Given the description of an element on the screen output the (x, y) to click on. 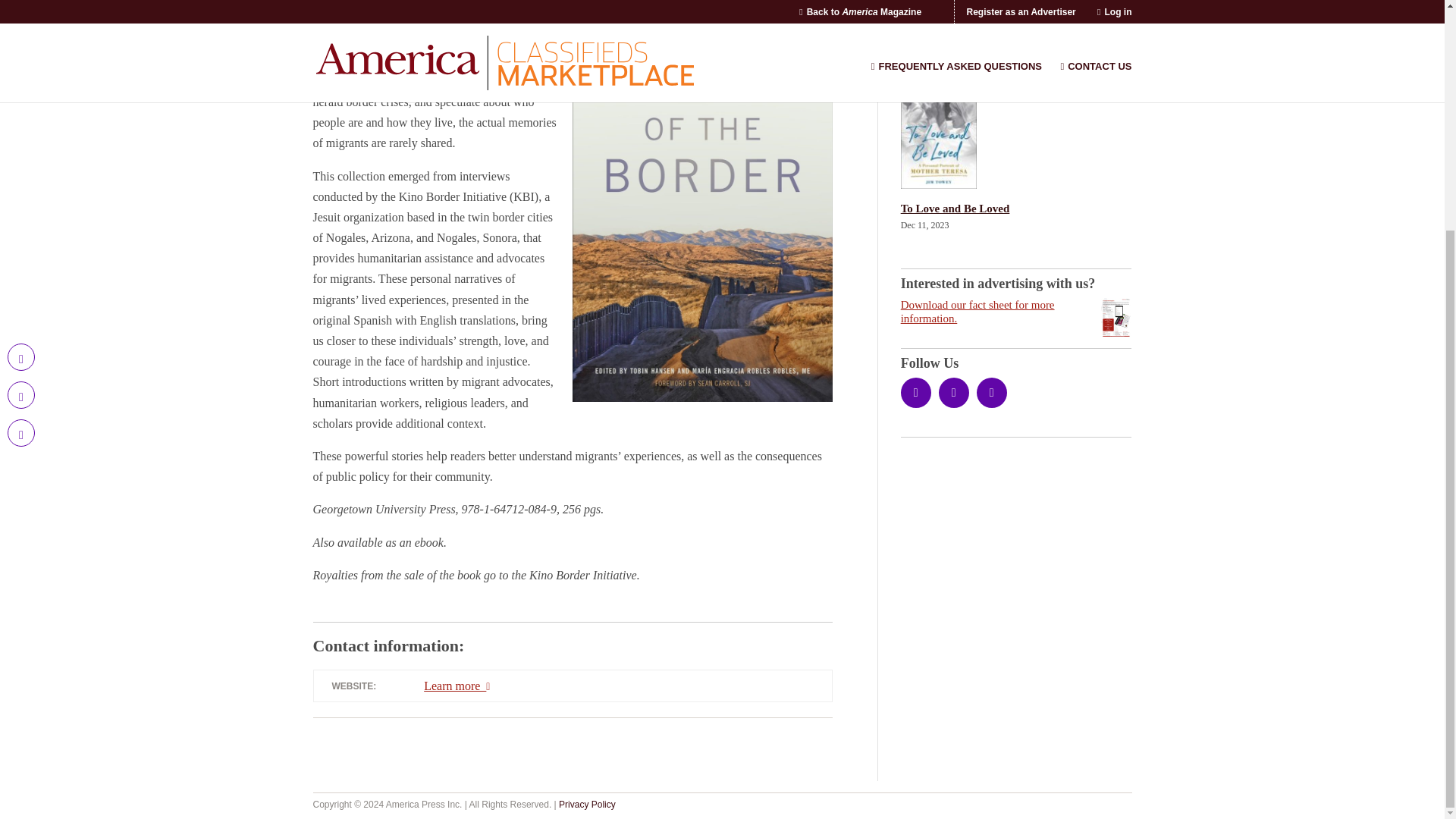
Privacy Policy (587, 804)
To Love and Be Loved (1016, 208)
To Love and Be Loved (1016, 208)
Download our fact sheet for more information. (1016, 311)
To Love and Be Loved (1016, 134)
Learn more   (458, 685)
3rd party ad content (1014, 539)
